Given the description of an element on the screen output the (x, y) to click on. 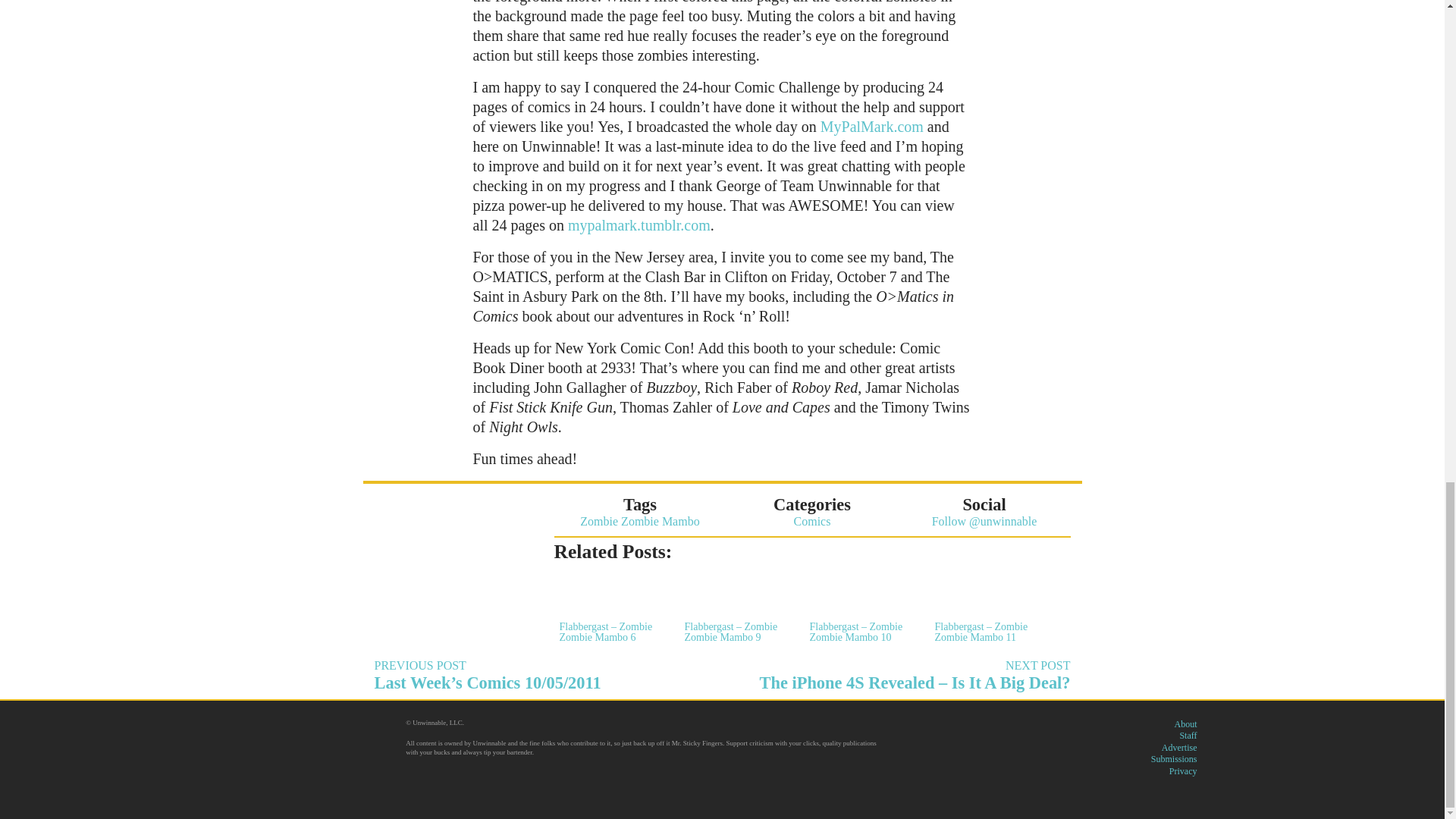
About (1184, 724)
Submissions (1173, 758)
mypalmark.tumblr.com (638, 225)
Comics (812, 521)
Zombie Zombie Mambo (638, 521)
MyPalMark.com (872, 126)
Staff (1187, 735)
Advertise (1178, 747)
Privacy (1182, 770)
